Given the description of an element on the screen output the (x, y) to click on. 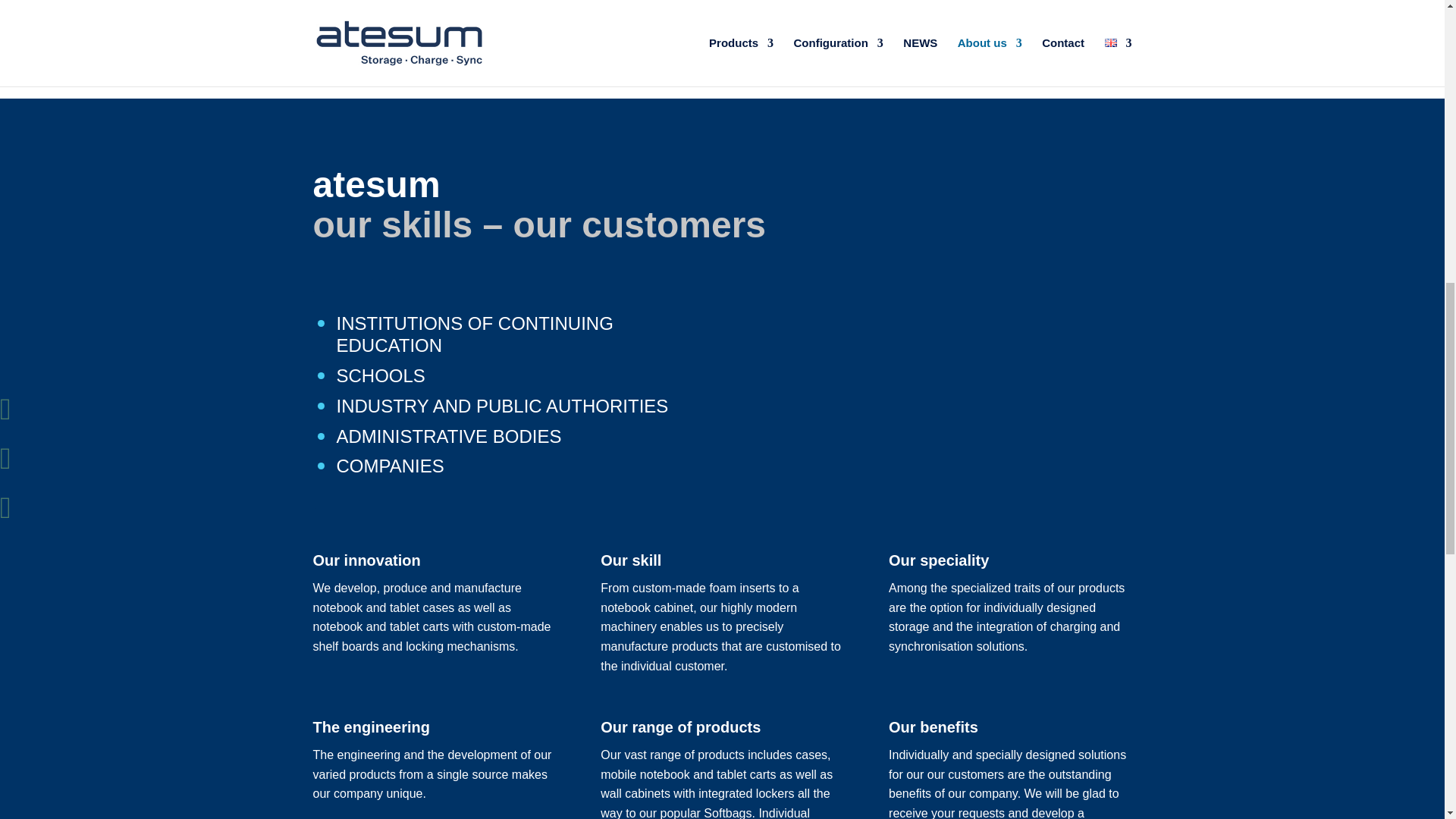
Page 2 (721, 626)
Page 2 (1009, 617)
Page 2 (433, 617)
Page 2 (721, 782)
Page 2 (433, 774)
Page 2 (517, 410)
